Given the description of an element on the screen output the (x, y) to click on. 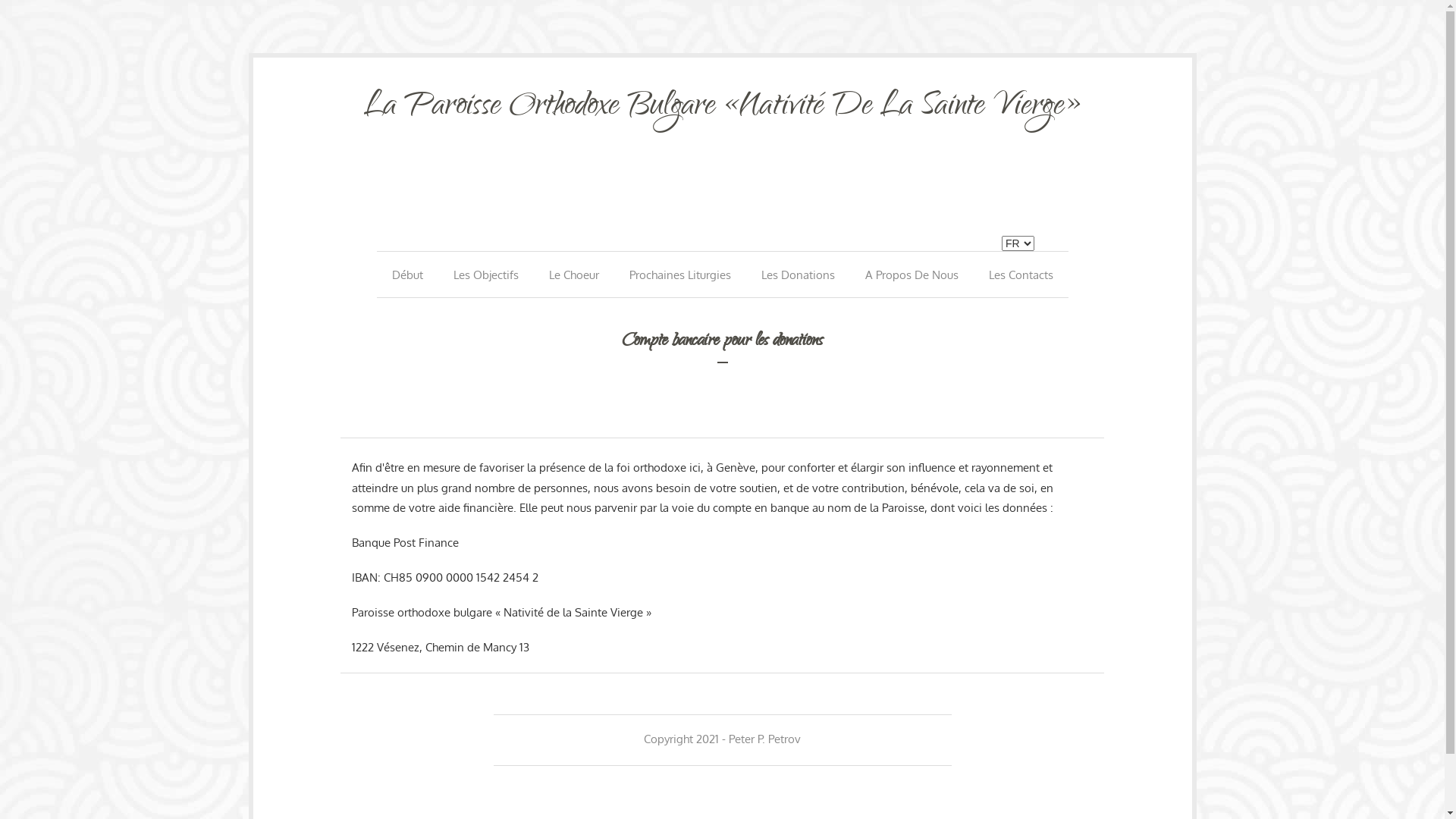
Les Objectifs Element type: text (485, 274)
Le Choeur Element type: text (573, 274)
Les Contacts Element type: text (1020, 274)
Prochaines Liturgies Element type: text (680, 274)
Les Donations Element type: text (798, 274)
A Propos De Nous Element type: text (910, 274)
